Given the description of an element on the screen output the (x, y) to click on. 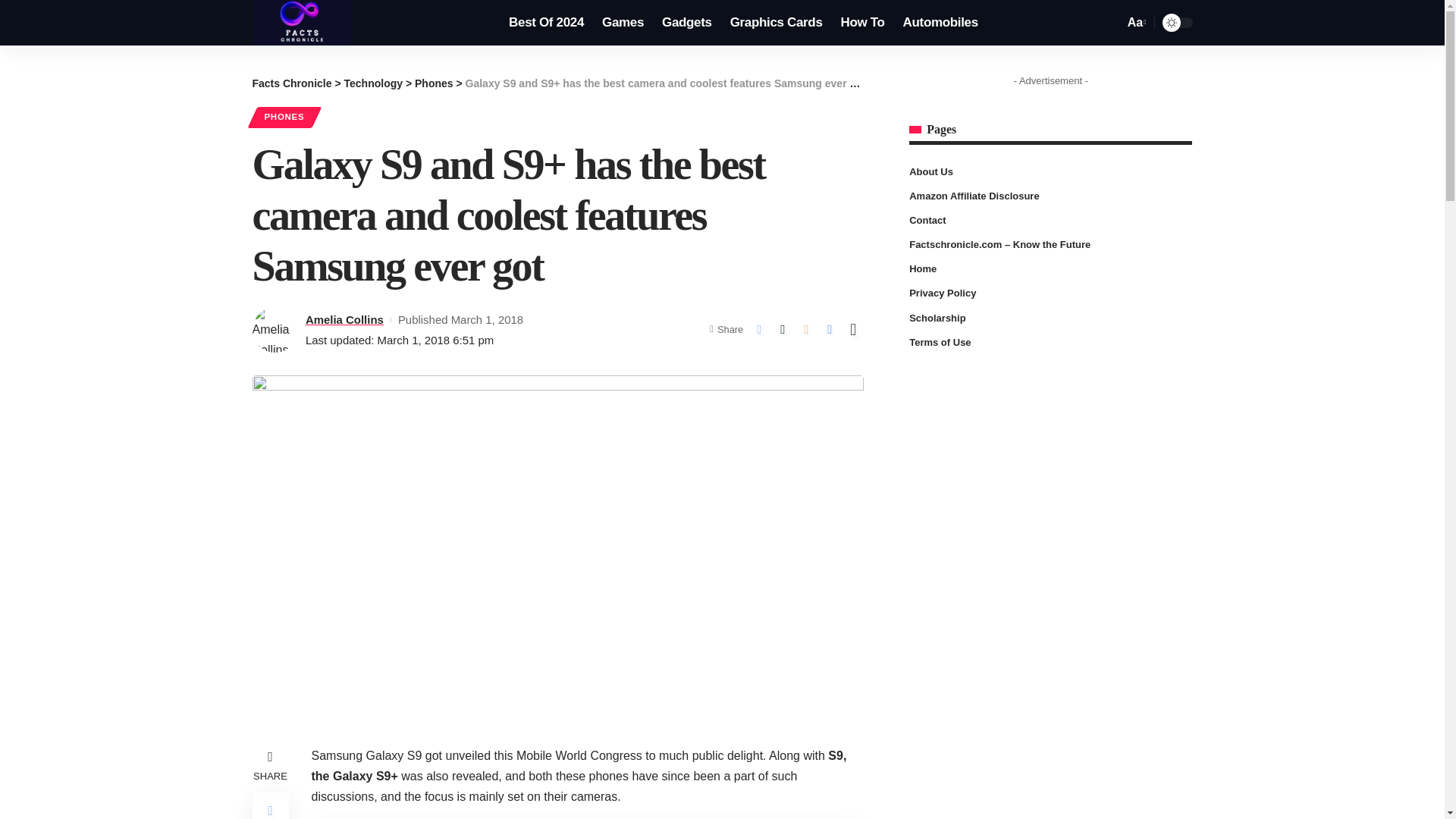
Amelia Collins (344, 319)
Phones (433, 82)
Best Of 2024 (545, 22)
Graphics Cards (775, 22)
How To (862, 22)
Technology (373, 82)
Facts Chronicle (301, 22)
Go to the Technology Category archives. (373, 82)
Aa (1135, 22)
Go to Facts Chronicle. (291, 82)
PHONES (283, 117)
Automobiles (940, 22)
Facts Chronicle (291, 82)
Go to the Phones Category archives. (433, 82)
Games (622, 22)
